Given the description of an element on the screen output the (x, y) to click on. 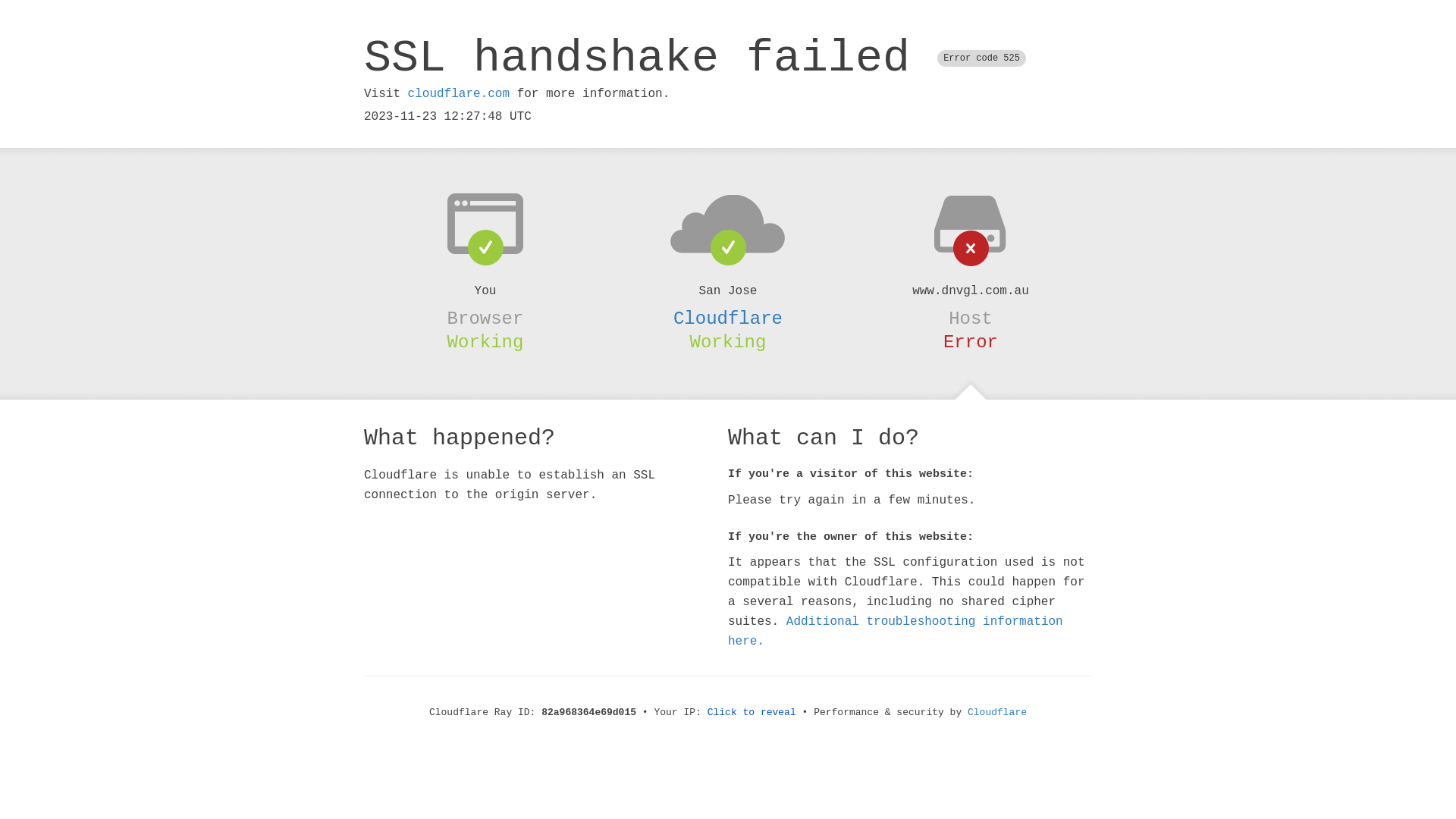
cloudflare.com Element type: text (458, 93)
Click to reveal Element type: text (751, 712)
Additional troubleshooting information here. Element type: text (895, 631)
Cloudflare Element type: text (996, 712)
Cloudflare Element type: text (727, 318)
